Given the description of an element on the screen output the (x, y) to click on. 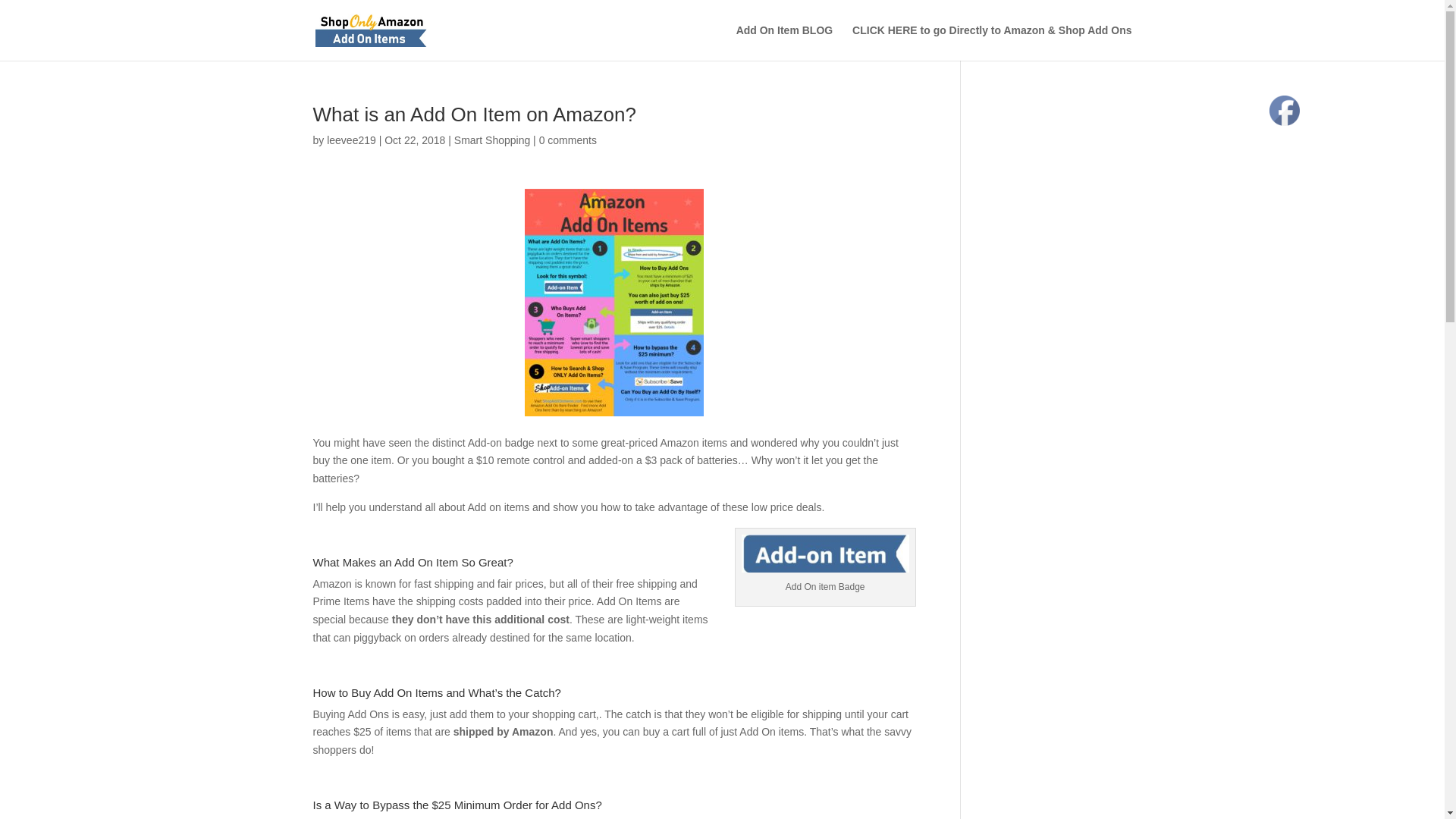
Add On Item BLOG (784, 42)
leevee219 (350, 140)
Facebook (1284, 110)
Posts by leevee219 (350, 140)
0 comments (567, 140)
Smart Shopping (491, 140)
